Given the description of an element on the screen output the (x, y) to click on. 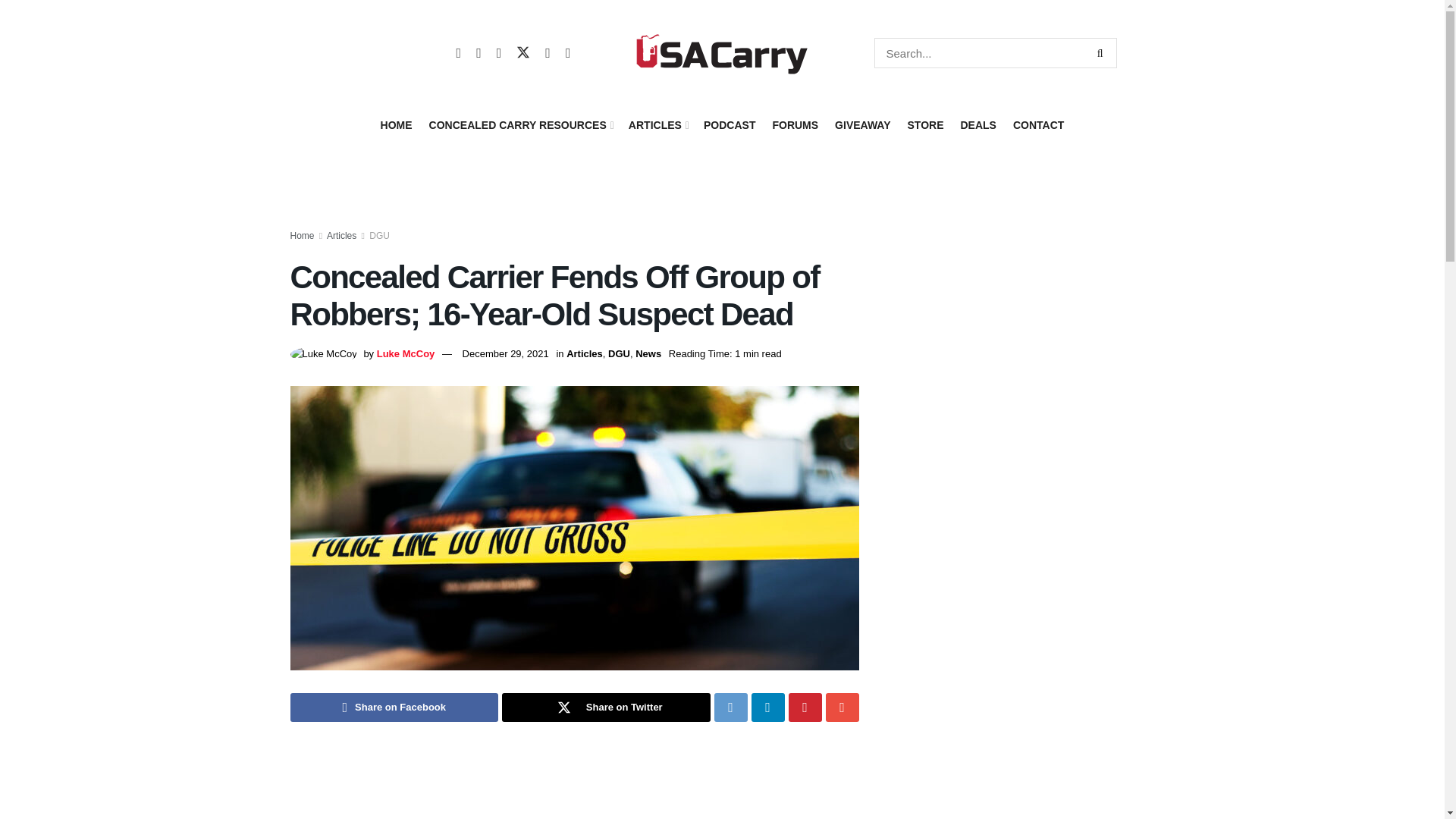
CONCEALED CARRY RESOURCES (520, 124)
Concealed Carry Resources (520, 124)
HOME (396, 124)
